Given the description of an element on the screen output the (x, y) to click on. 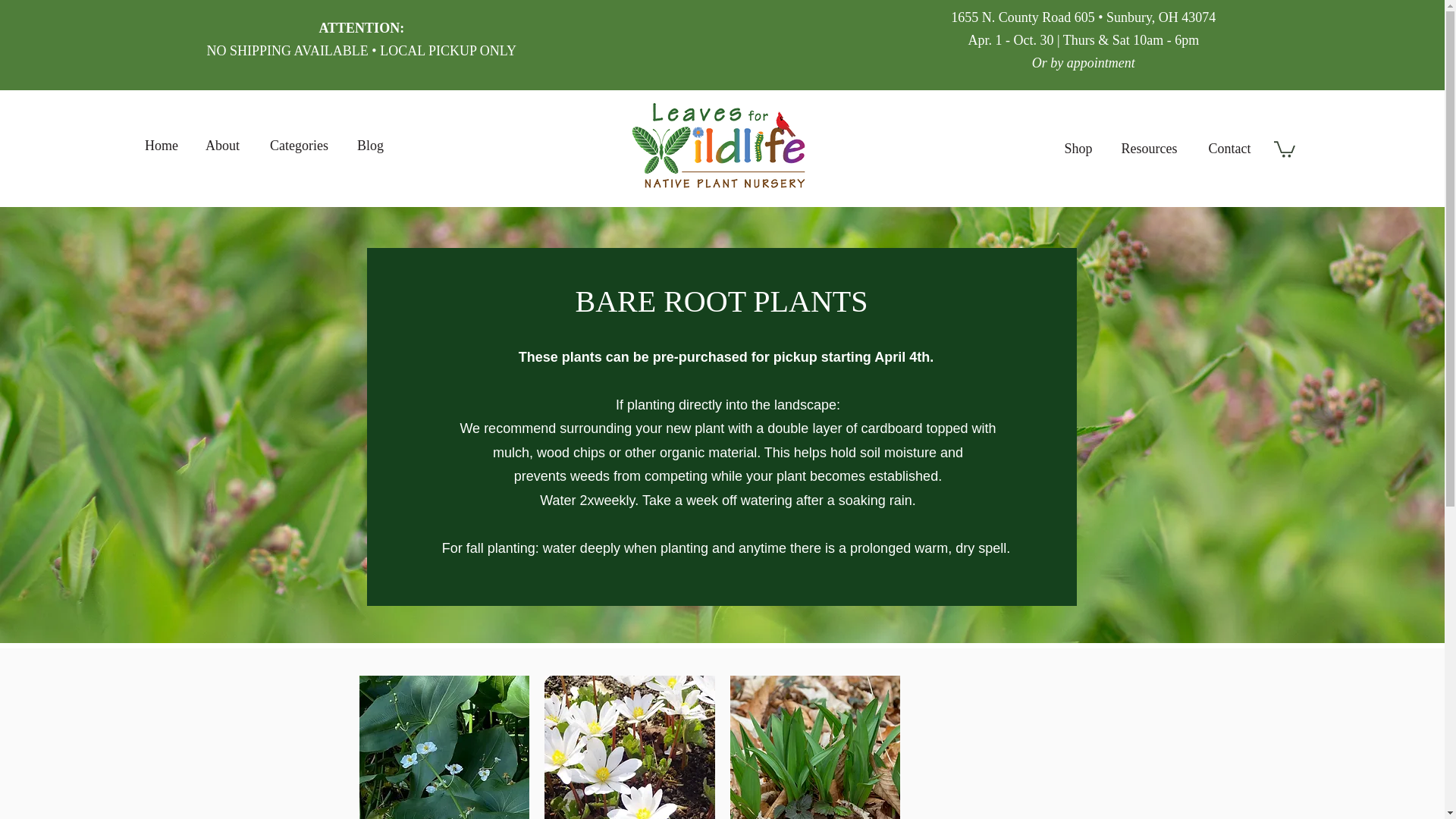
About (221, 145)
Shop (1078, 148)
Blog (369, 145)
Home (161, 145)
Resources (1149, 148)
Contact (1229, 148)
